Given the description of an element on the screen output the (x, y) to click on. 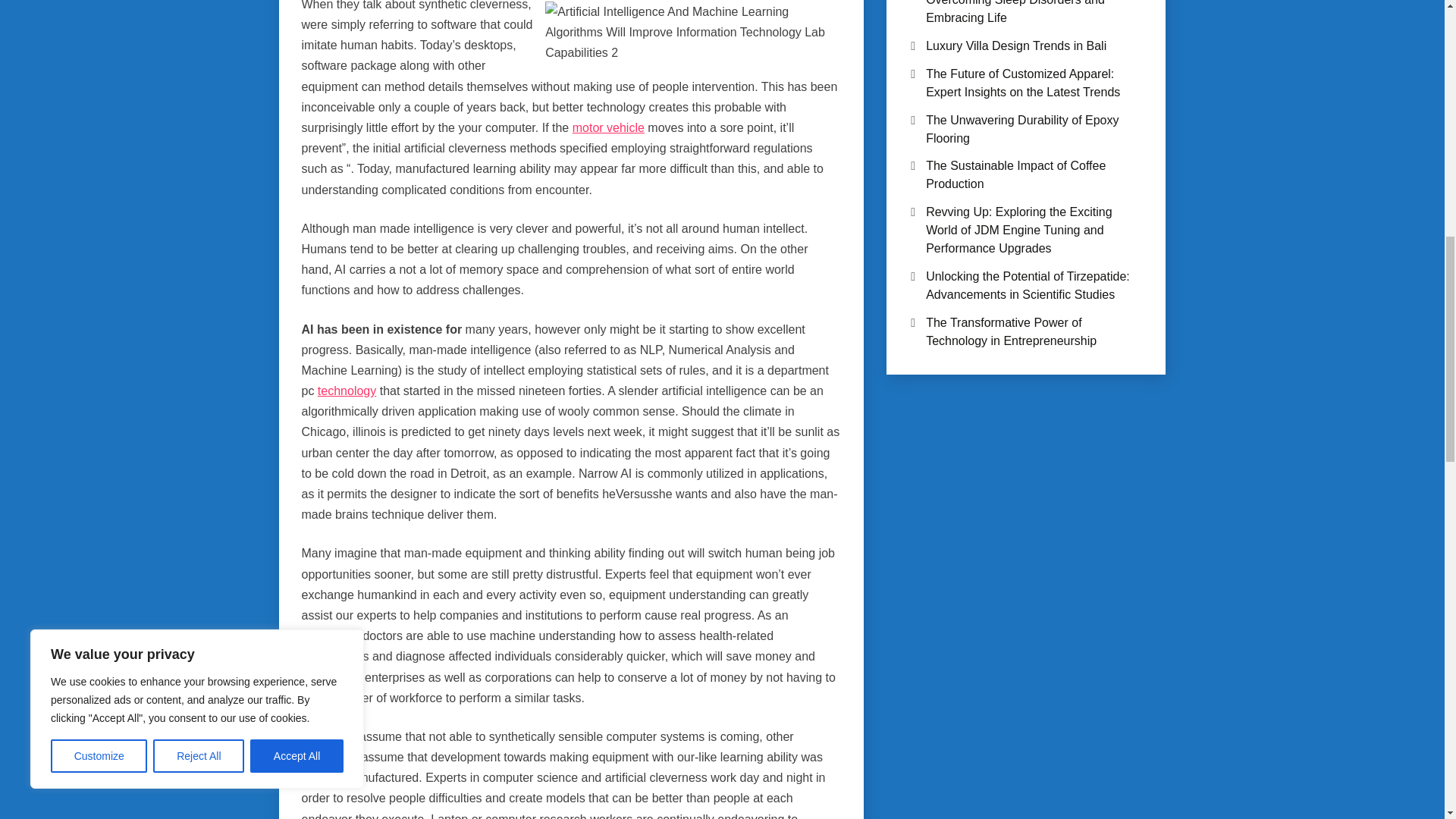
technology (346, 390)
motor vehicle (608, 127)
